Given the description of an element on the screen output the (x, y) to click on. 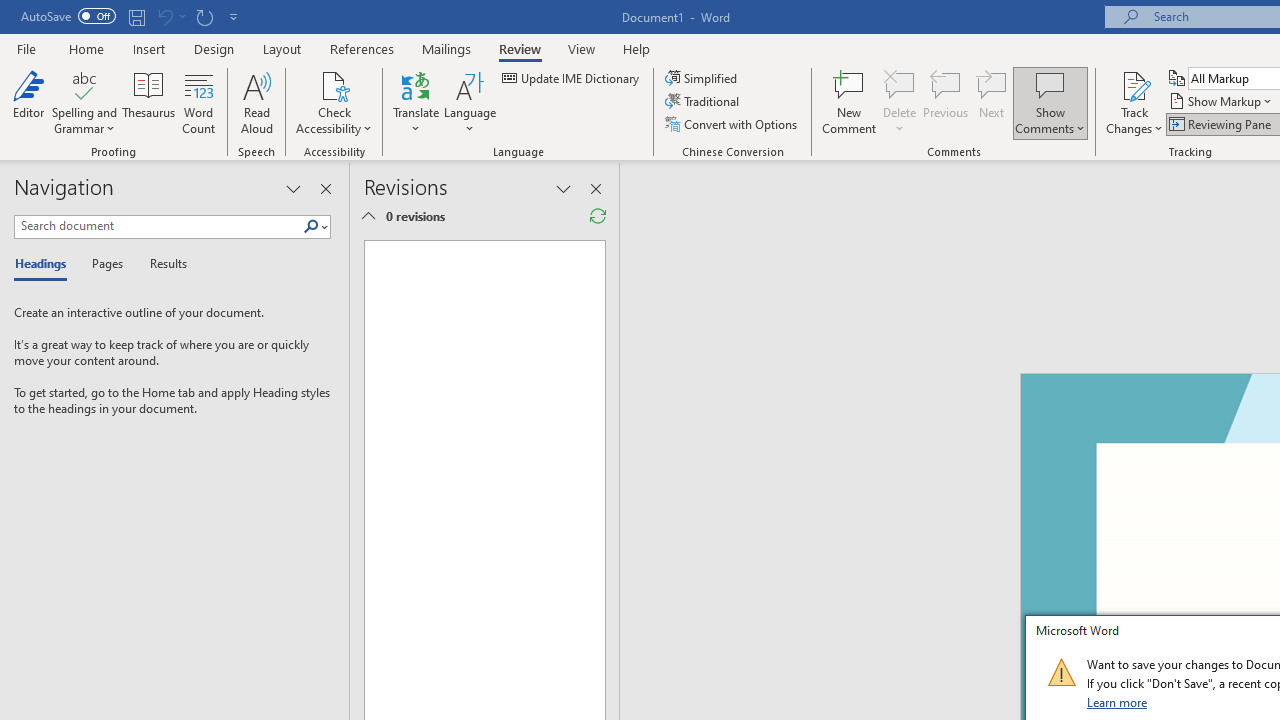
Task Pane Options (293, 188)
References (362, 48)
View (582, 48)
AutoSave (68, 16)
Insert (149, 48)
Word Count (198, 102)
Headings (45, 264)
Review (520, 48)
Thesaurus... (148, 102)
Reviewing Pane (1221, 124)
Learn more (1118, 702)
Quick Access Toolbar (131, 16)
Refresh Reviewing Pane (597, 215)
Next (991, 102)
